Given the description of an element on the screen output the (x, y) to click on. 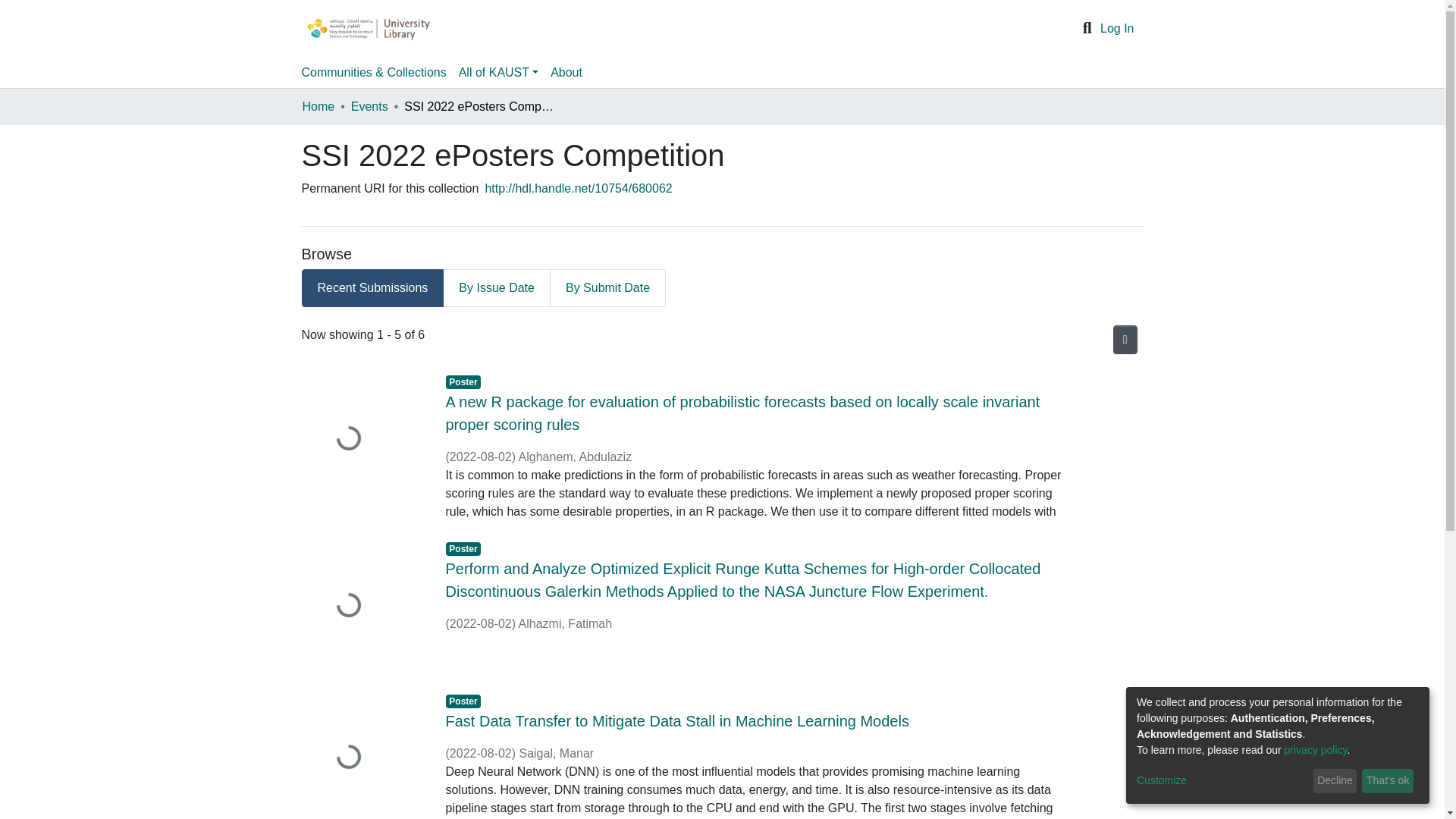
Home (317, 106)
By Issue Date (496, 288)
Loading... (362, 605)
Recent Submissions (372, 288)
About (566, 72)
By Submit Date (607, 288)
Log In (1117, 28)
Events (369, 106)
About (566, 72)
Loading... (362, 755)
Search (1087, 28)
Loading... (362, 439)
